Given the description of an element on the screen output the (x, y) to click on. 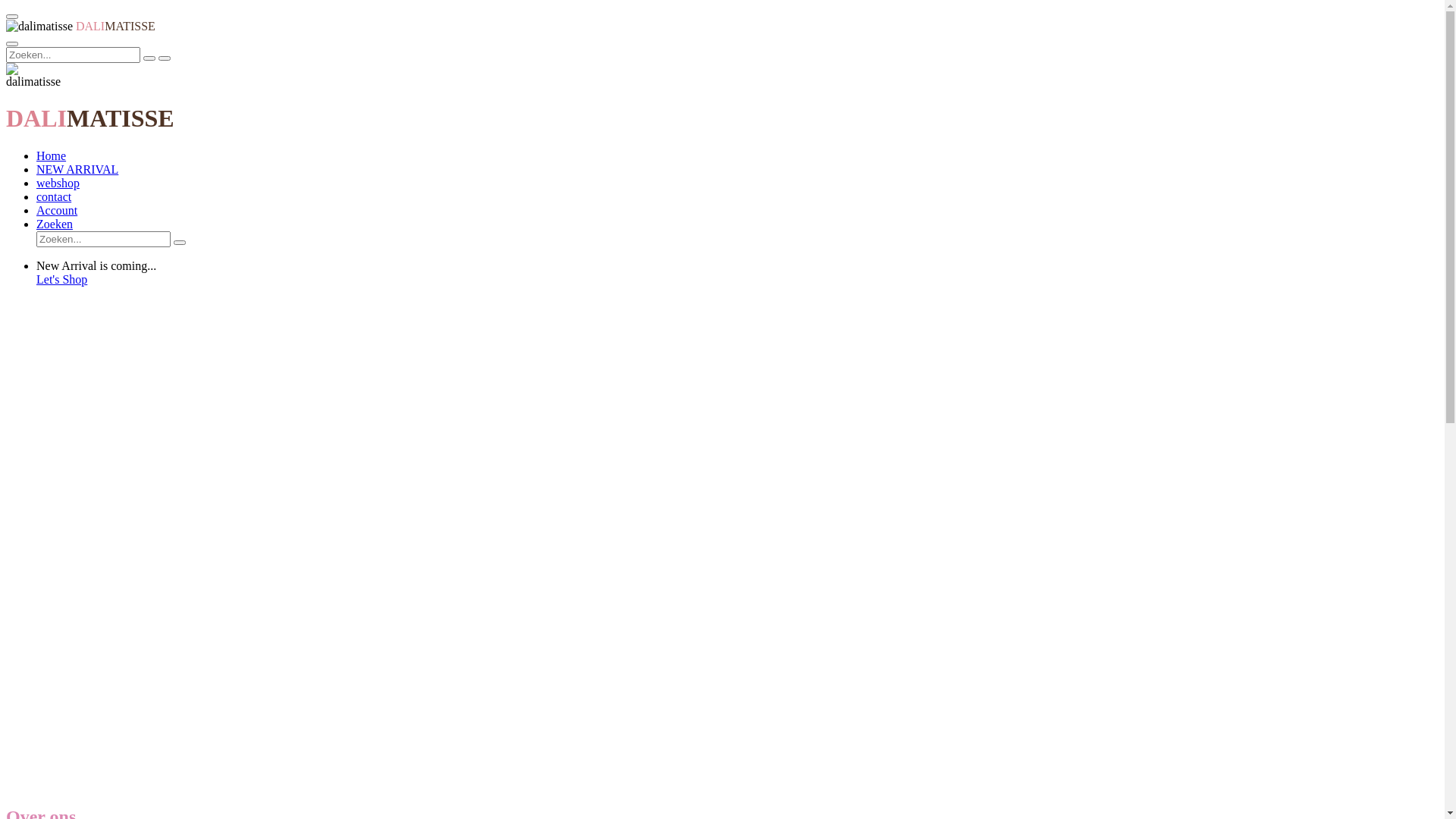
Home Element type: text (50, 155)
dalimatisse Element type: hover (33, 75)
Account Element type: text (56, 209)
Let's Shop Element type: text (737, 279)
Zoeken Element type: text (54, 223)
dalimatisse Element type: hover (39, 26)
webshop Element type: text (57, 182)
contact Element type: text (53, 196)
NEW ARRIVAL Element type: text (77, 169)
